Given the description of an element on the screen output the (x, y) to click on. 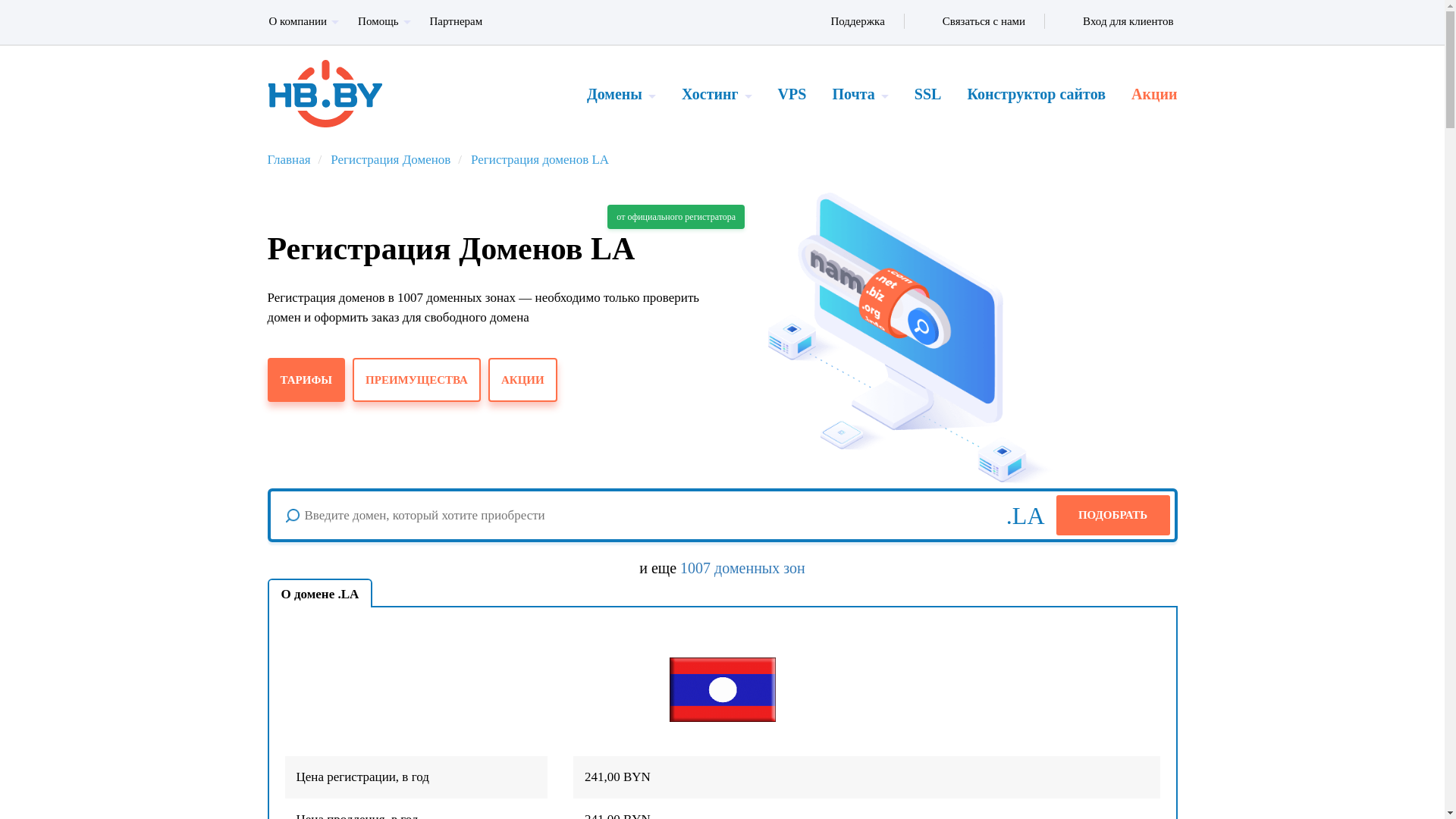
SSL Element type: text (927, 93)
VPS Element type: text (792, 93)
